Given the description of an element on the screen output the (x, y) to click on. 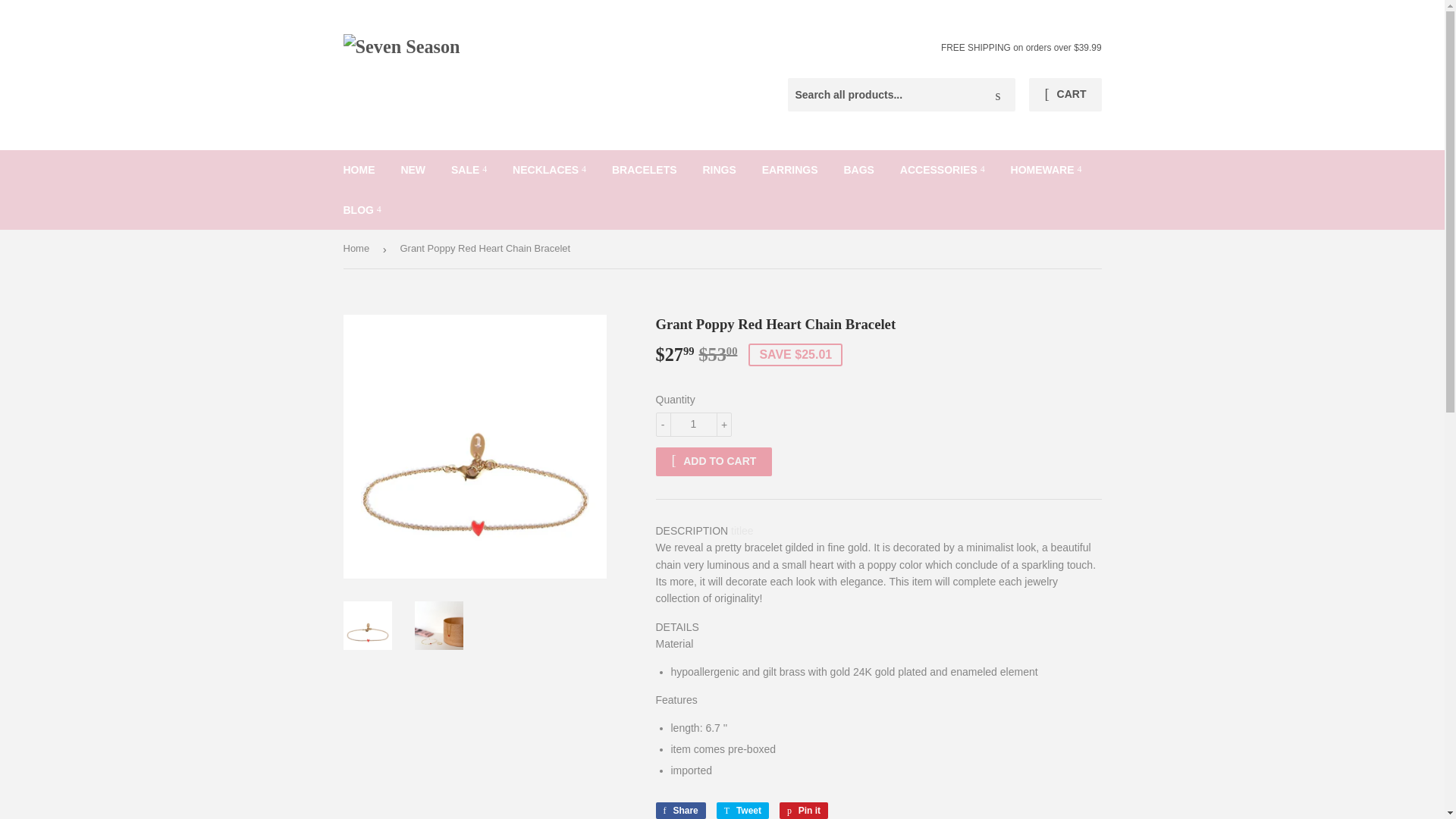
NEW (412, 169)
Tweet on Twitter (742, 810)
Search (997, 95)
1 (692, 424)
HOME (359, 169)
SALE (468, 169)
CART (1064, 94)
Share on Facebook (679, 810)
Pin on Pinterest (803, 810)
